Given the description of an element on the screen output the (x, y) to click on. 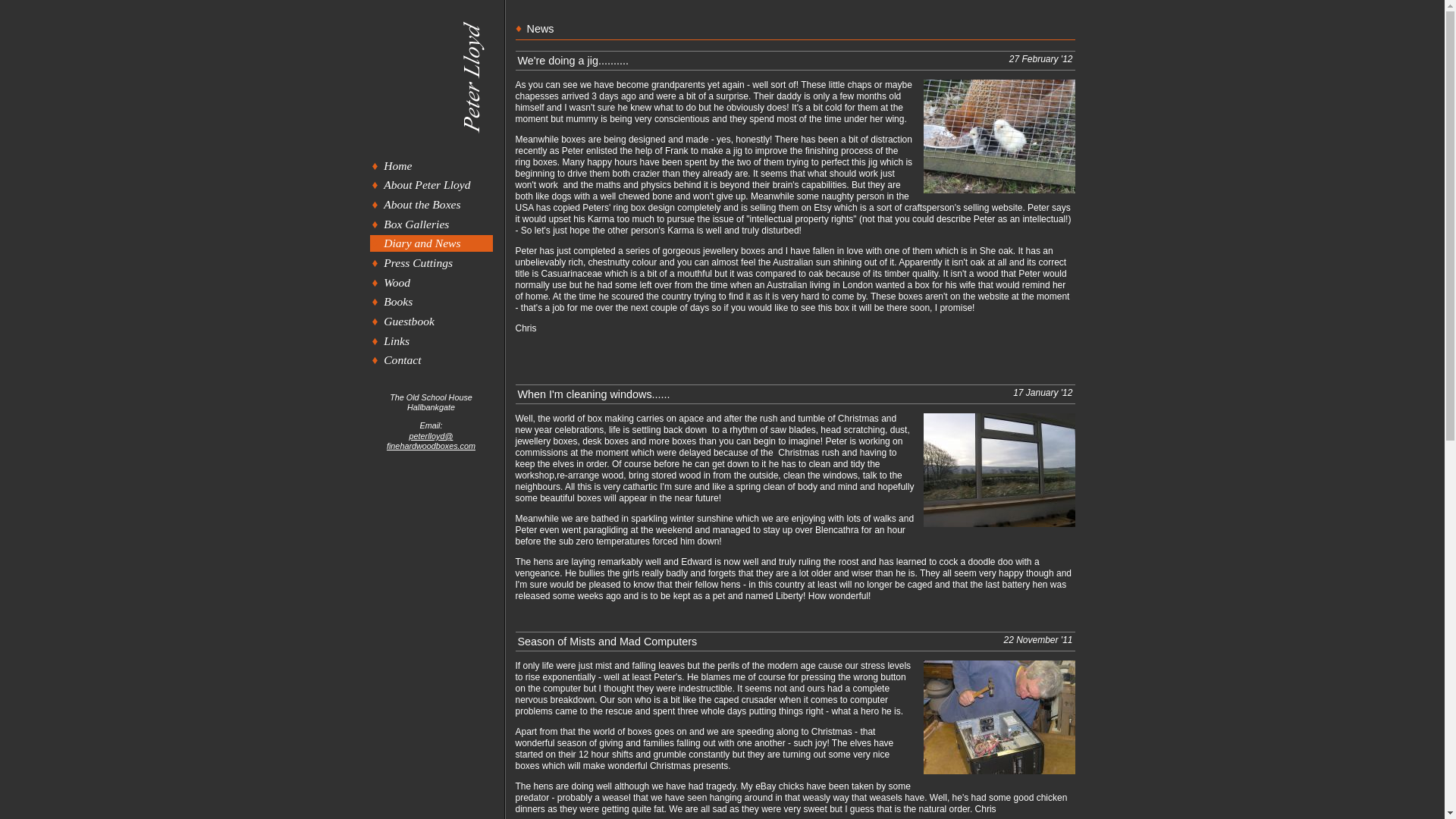
Box Galleries (431, 223)
Links (431, 340)
Contact (431, 360)
About Peter Lloyd (431, 185)
Diary and News (431, 243)
Press Cuttings (431, 262)
About the Boxes (431, 203)
Guestbook (431, 321)
Wood (431, 282)
Home (431, 165)
